Given the description of an element on the screen output the (x, y) to click on. 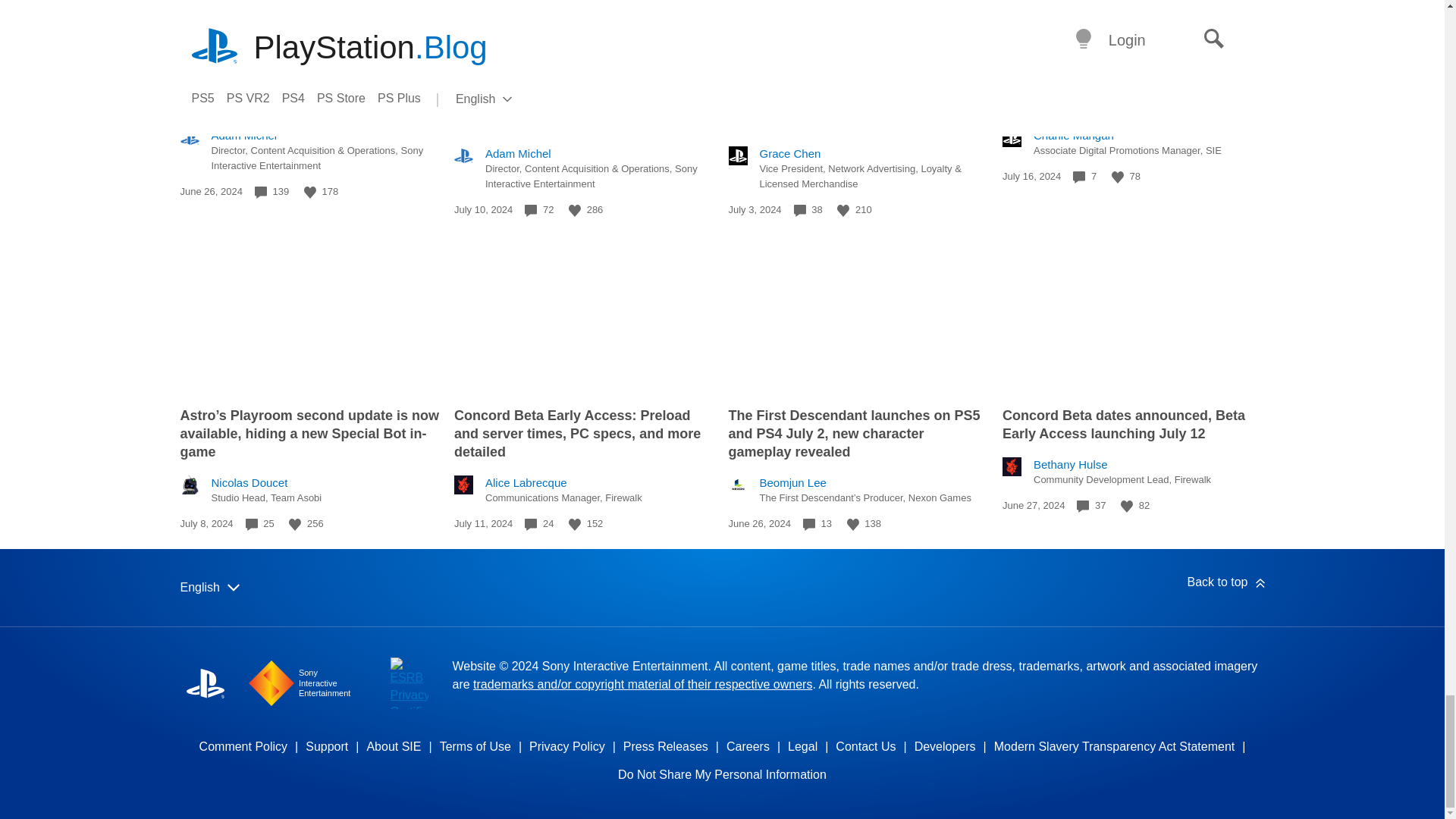
Like this (1118, 177)
Like this (574, 210)
Like this (309, 192)
Like this (842, 210)
